Given the description of an element on the screen output the (x, y) to click on. 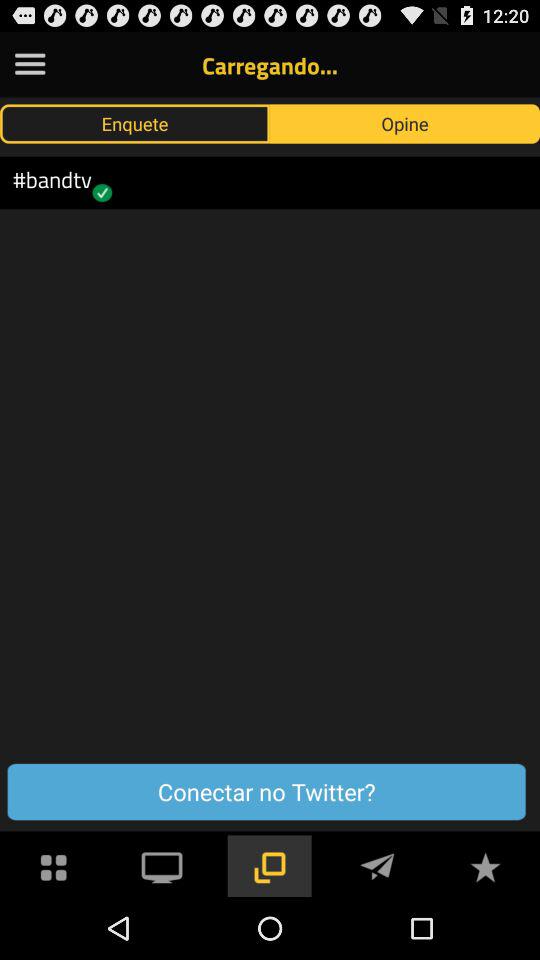
add to favorites (485, 865)
